Given the description of an element on the screen output the (x, y) to click on. 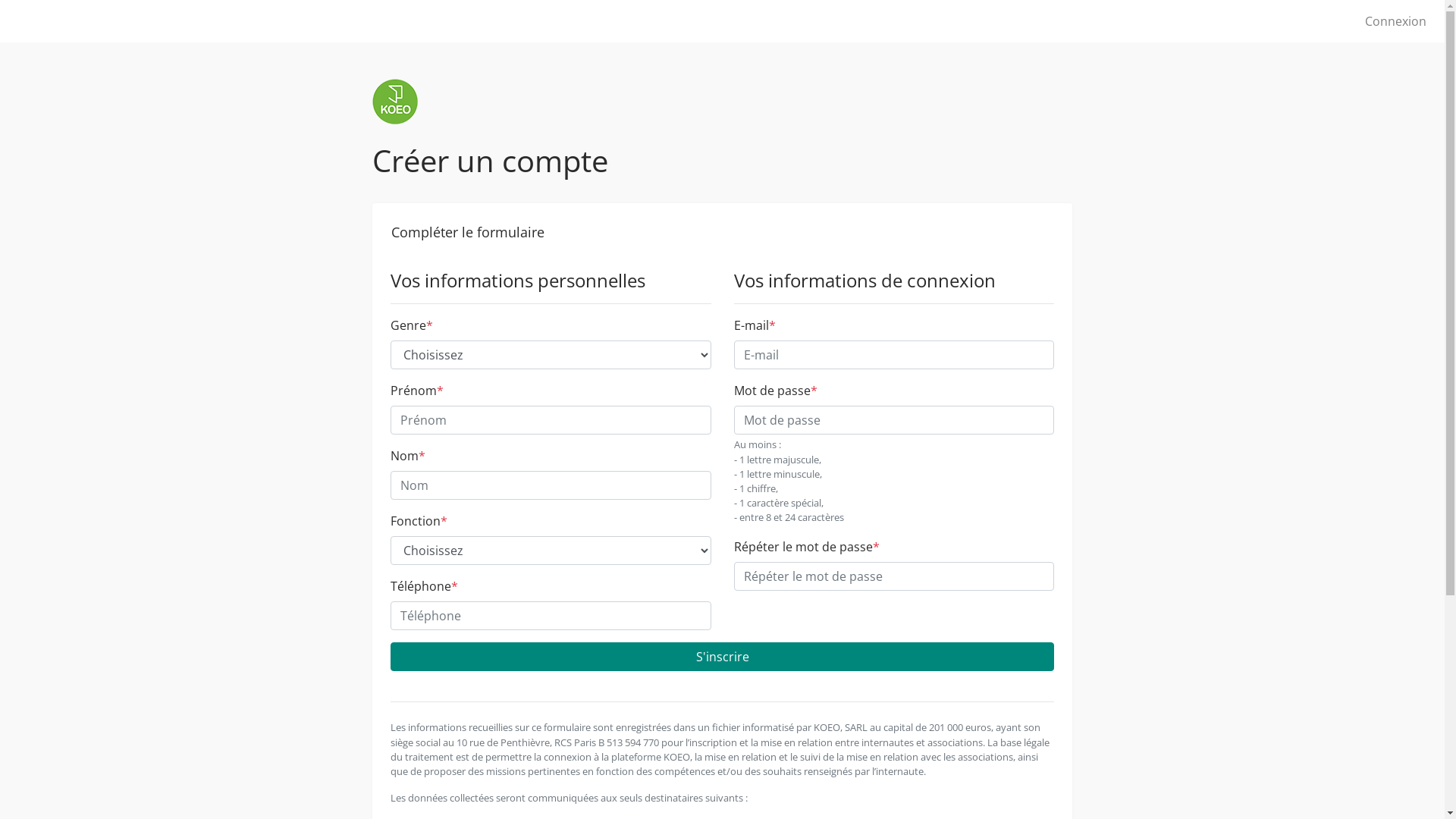
S'inscrire Element type: text (722, 656)
Connexion Element type: text (1395, 21)
